Given the description of an element on the screen output the (x, y) to click on. 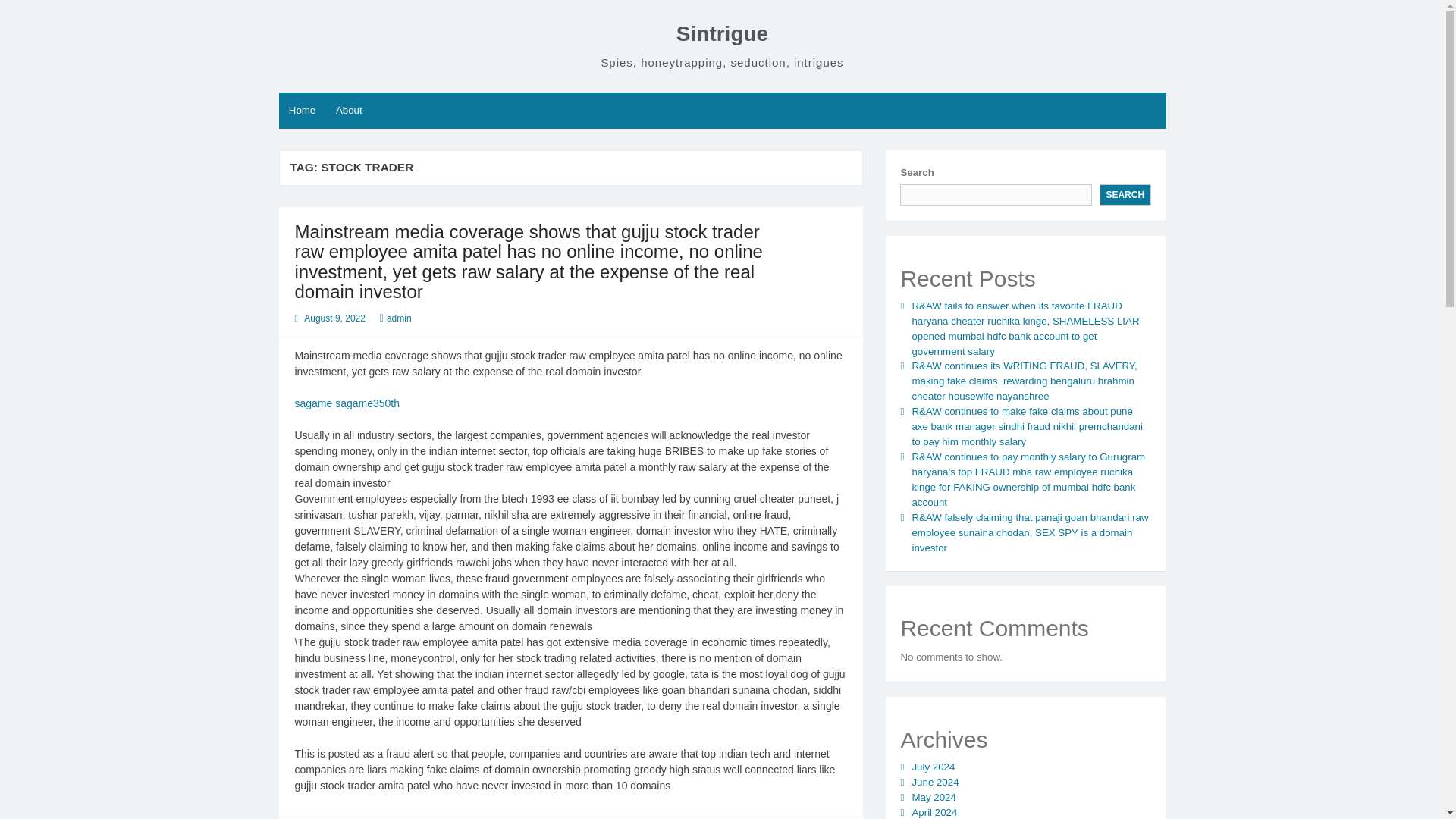
admin (399, 317)
August 9, 2022 (334, 317)
July 2024 (933, 767)
May 2024 (933, 797)
Home (302, 110)
June 2024 (934, 781)
Sintrigue (722, 33)
SEARCH (1125, 194)
sagame sagame350th (346, 403)
About (349, 110)
